Given the description of an element on the screen output the (x, y) to click on. 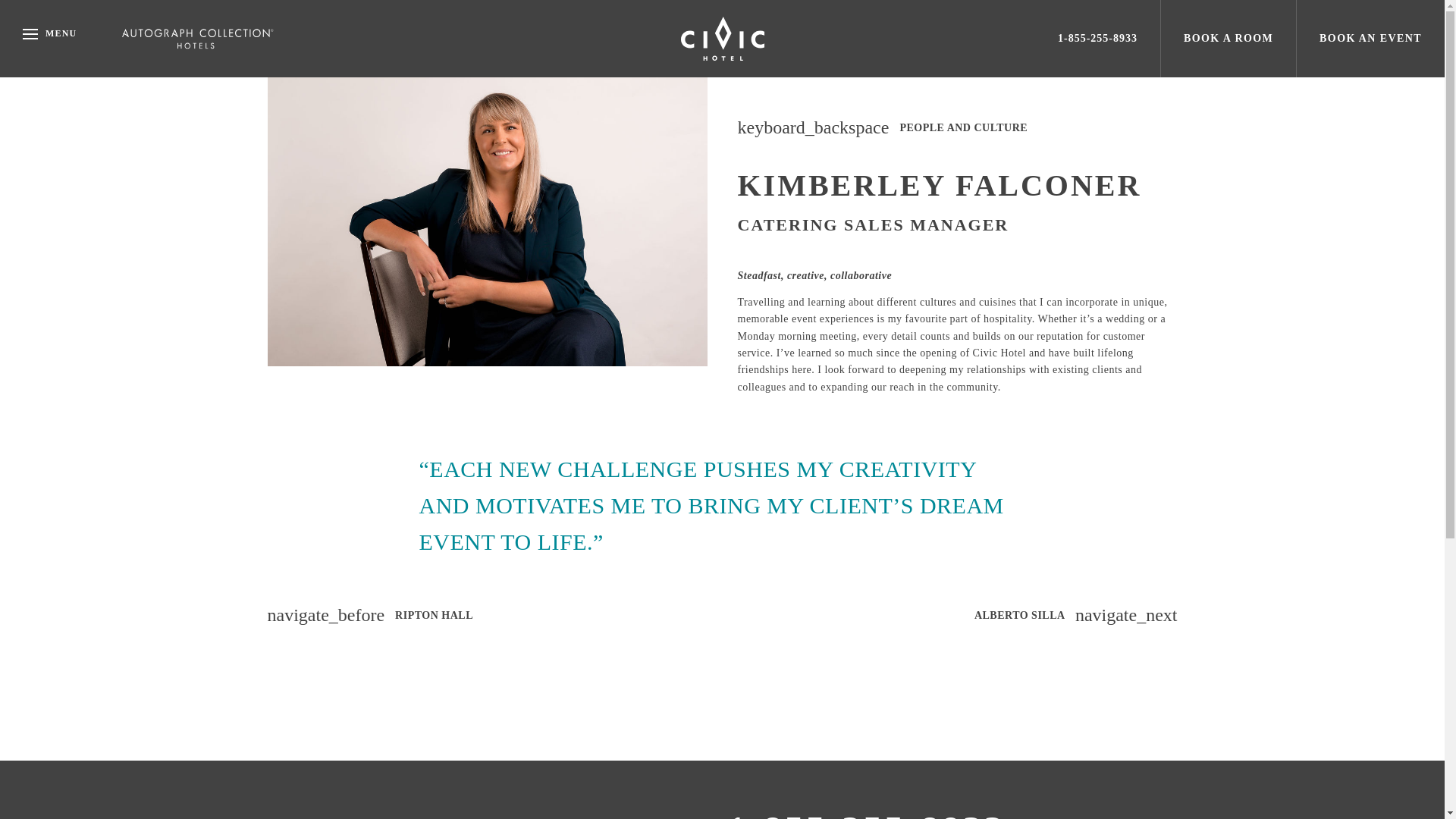
BOOK A ROOM (1227, 38)
MENU (38, 38)
1-855-255-8933 (866, 813)
1-855-255-8933 (1097, 38)
